Given the description of an element on the screen output the (x, y) to click on. 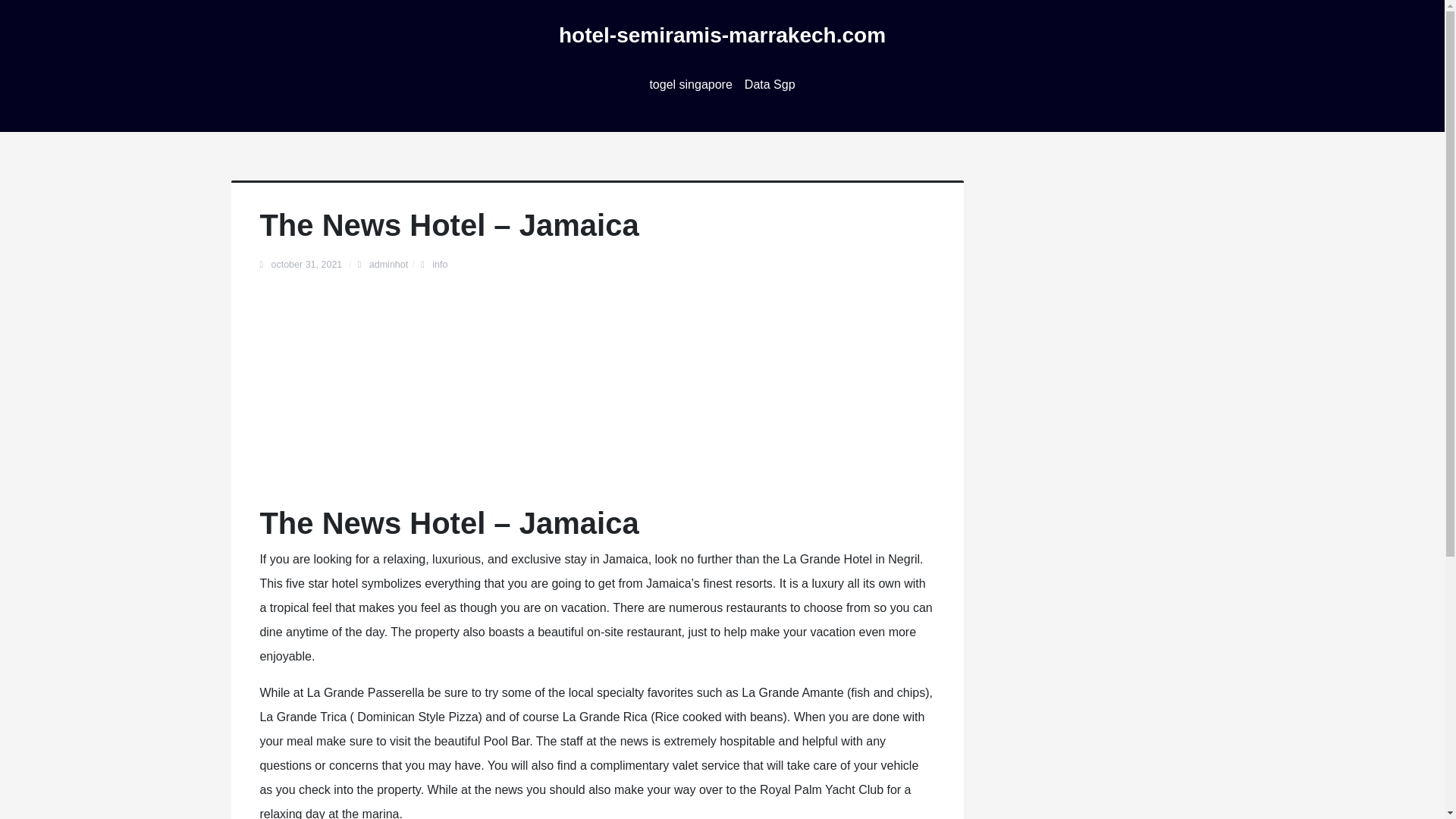
togel singapore (690, 84)
october 31, 2021 (306, 264)
adminhot (388, 264)
hotel-semiramis-marrakech.com (722, 34)
info (439, 264)
togel singapore (690, 84)
Data Sgp (770, 84)
Data Sgp (770, 84)
